Given the description of an element on the screen output the (x, y) to click on. 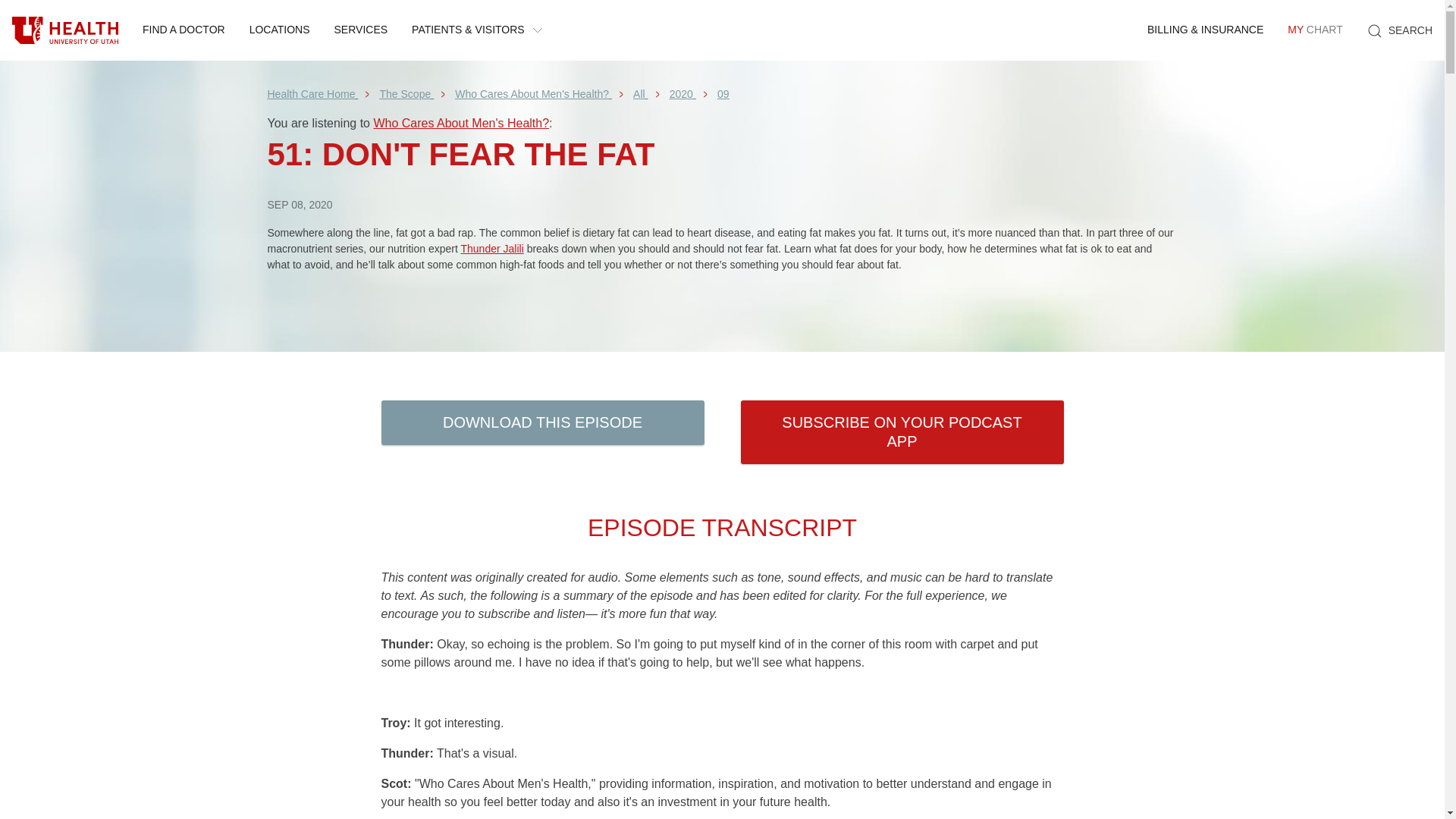
09 (723, 93)
The Kaltura Dynamic Video Player (1314, 30)
All (721, 312)
Thunder Jalili (639, 93)
FIND A DOCTOR (491, 248)
University of Utah Health logo (184, 30)
Who Cares About Men's Health? (65, 30)
The Scope (531, 93)
Who Cares About Men's Health? (405, 93)
2020 (460, 123)
SERVICES (681, 93)
Health Care Home (360, 30)
LOCATIONS (310, 93)
SEARCH (279, 30)
